Given the description of an element on the screen output the (x, y) to click on. 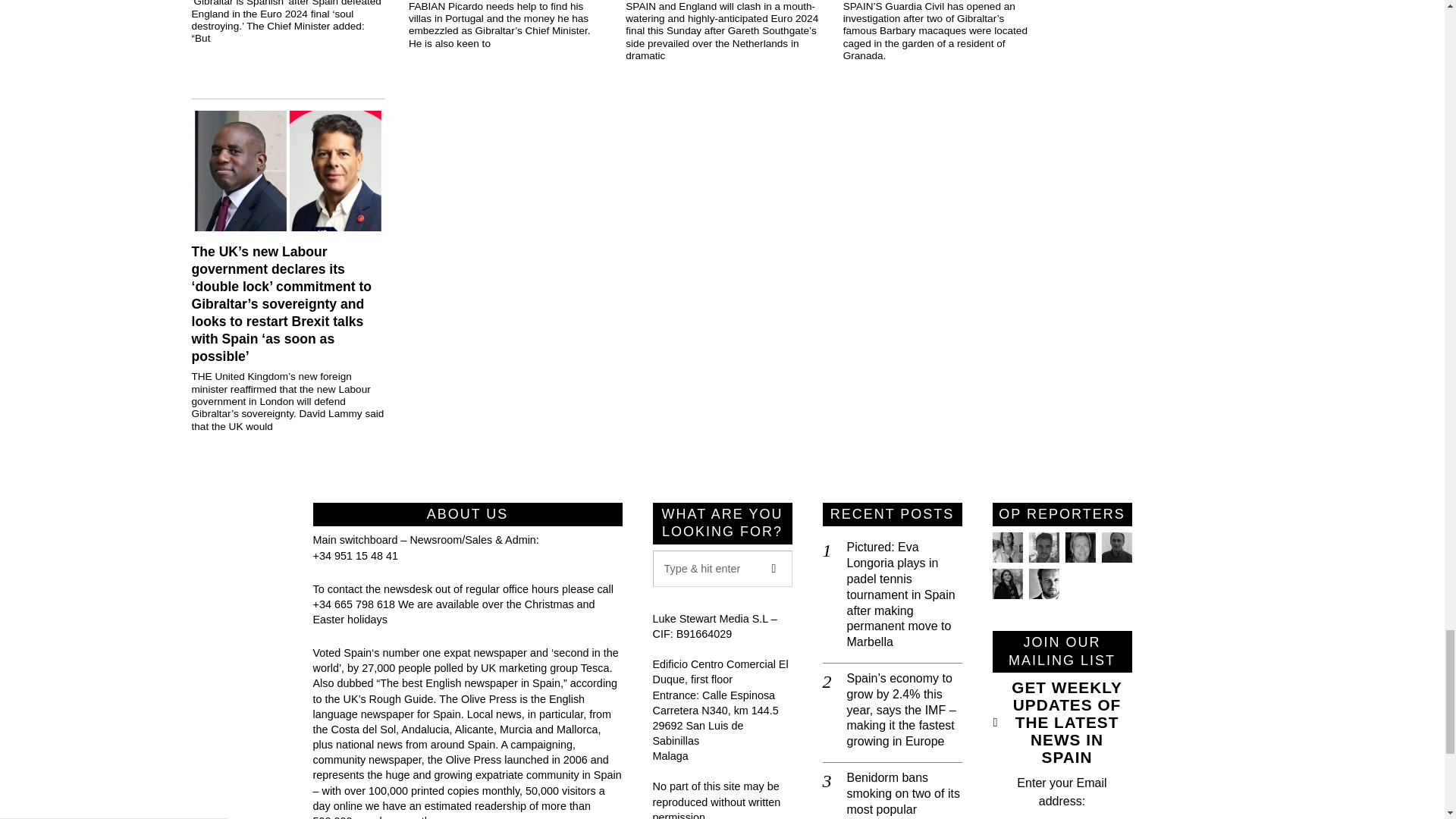
Alex Trelinski (1079, 547)
Dilip Kuner (1115, 547)
Laurence Dollimore (1042, 547)
Go (773, 568)
